Given the description of an element on the screen output the (x, y) to click on. 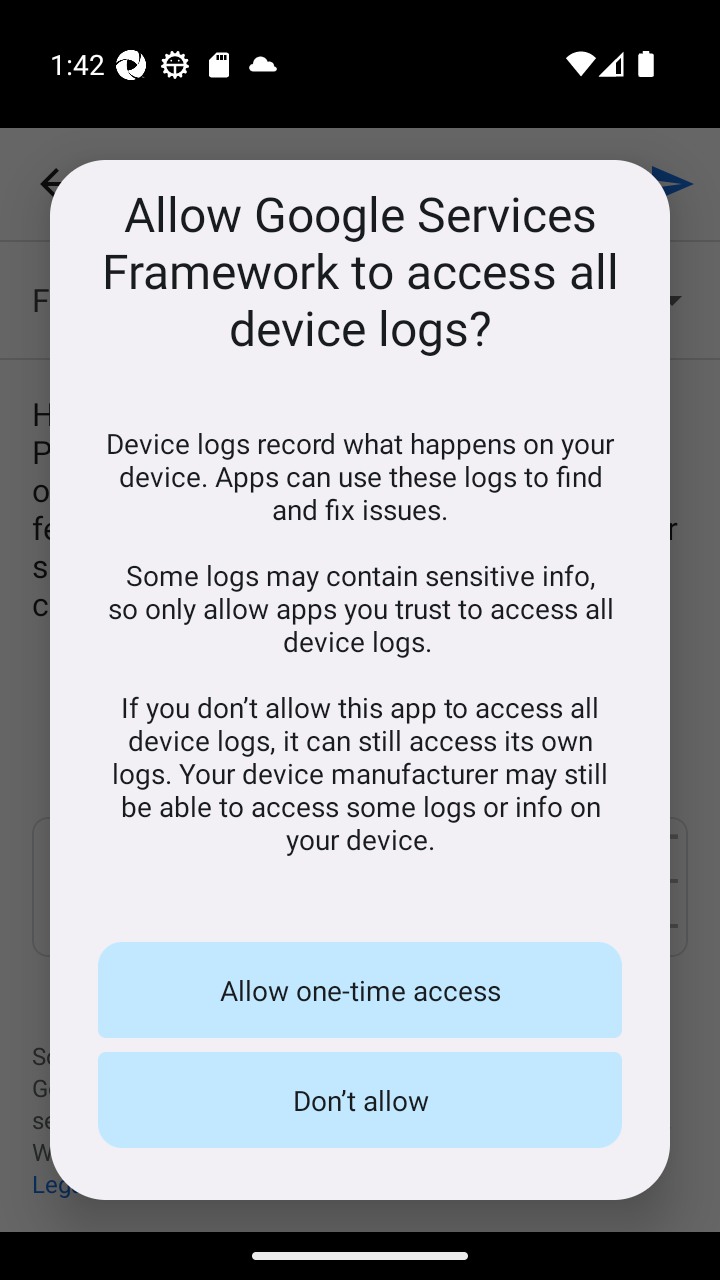
Allow one-time access (359, 990)
Don’t allow (359, 1100)
